Given the description of an element on the screen output the (x, y) to click on. 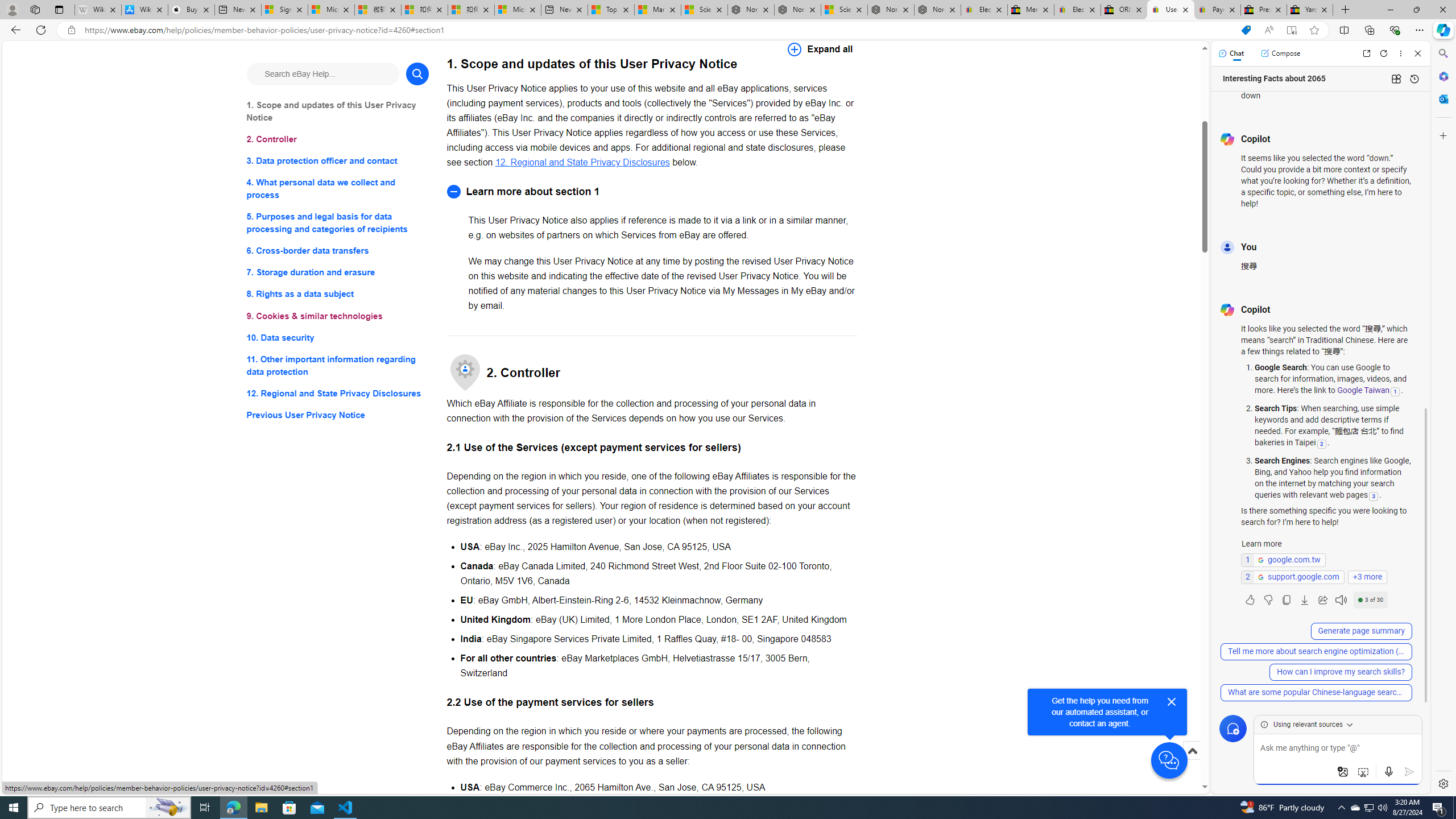
11. Other important information regarding data protection (337, 365)
2. Controller (337, 138)
3. Data protection officer and contact (337, 160)
2. Controller (337, 138)
Top Stories - MSN (610, 9)
User Privacy Notice | eBay (1170, 9)
12. Regional and State Privacy Disclosures (582, 162)
